Given the description of an element on the screen output the (x, y) to click on. 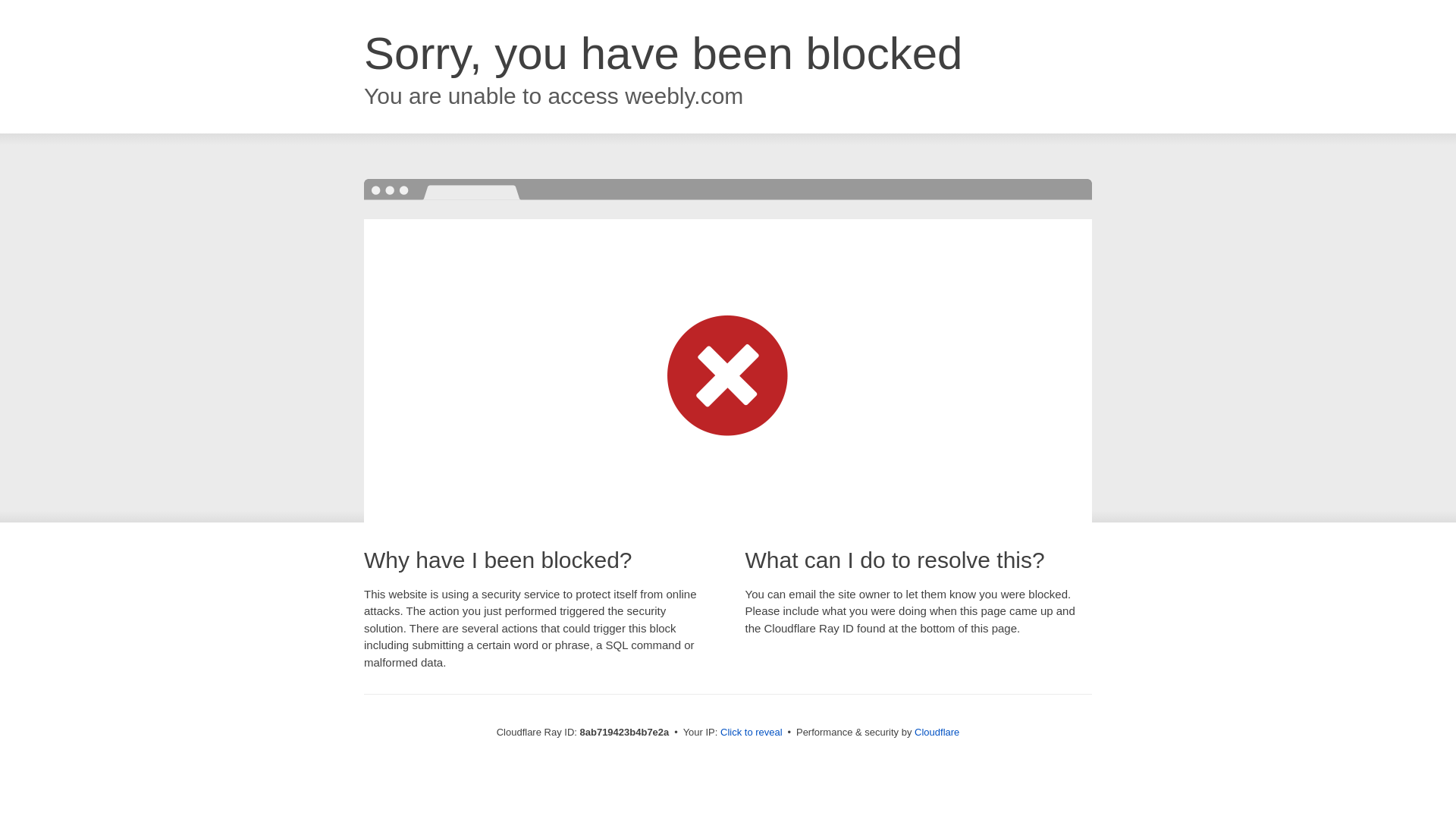
Cloudflare (936, 731)
Click to reveal (751, 732)
